Given the description of an element on the screen output the (x, y) to click on. 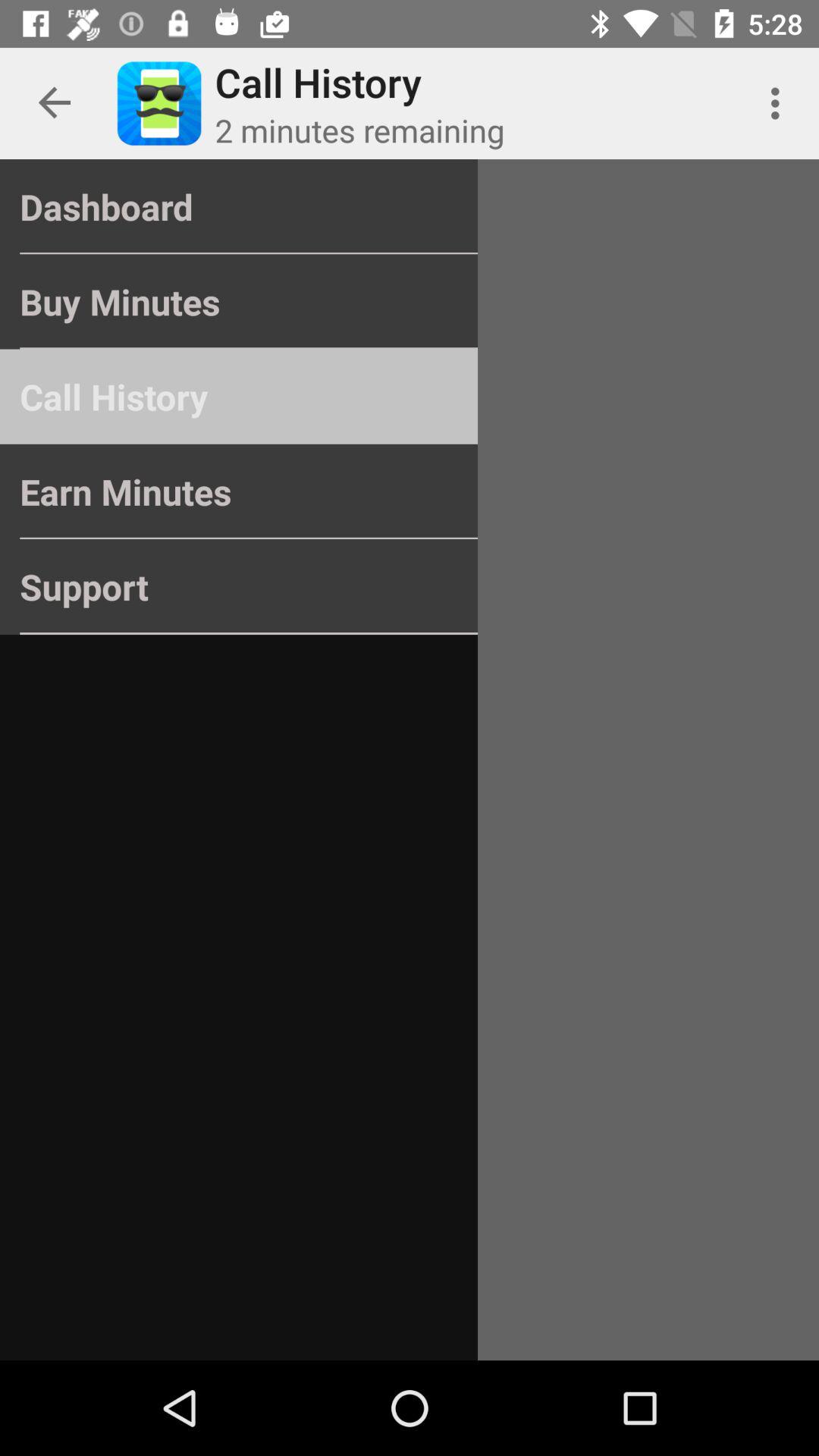
launch the icon above the call history (238, 301)
